Given the description of an element on the screen output the (x, y) to click on. 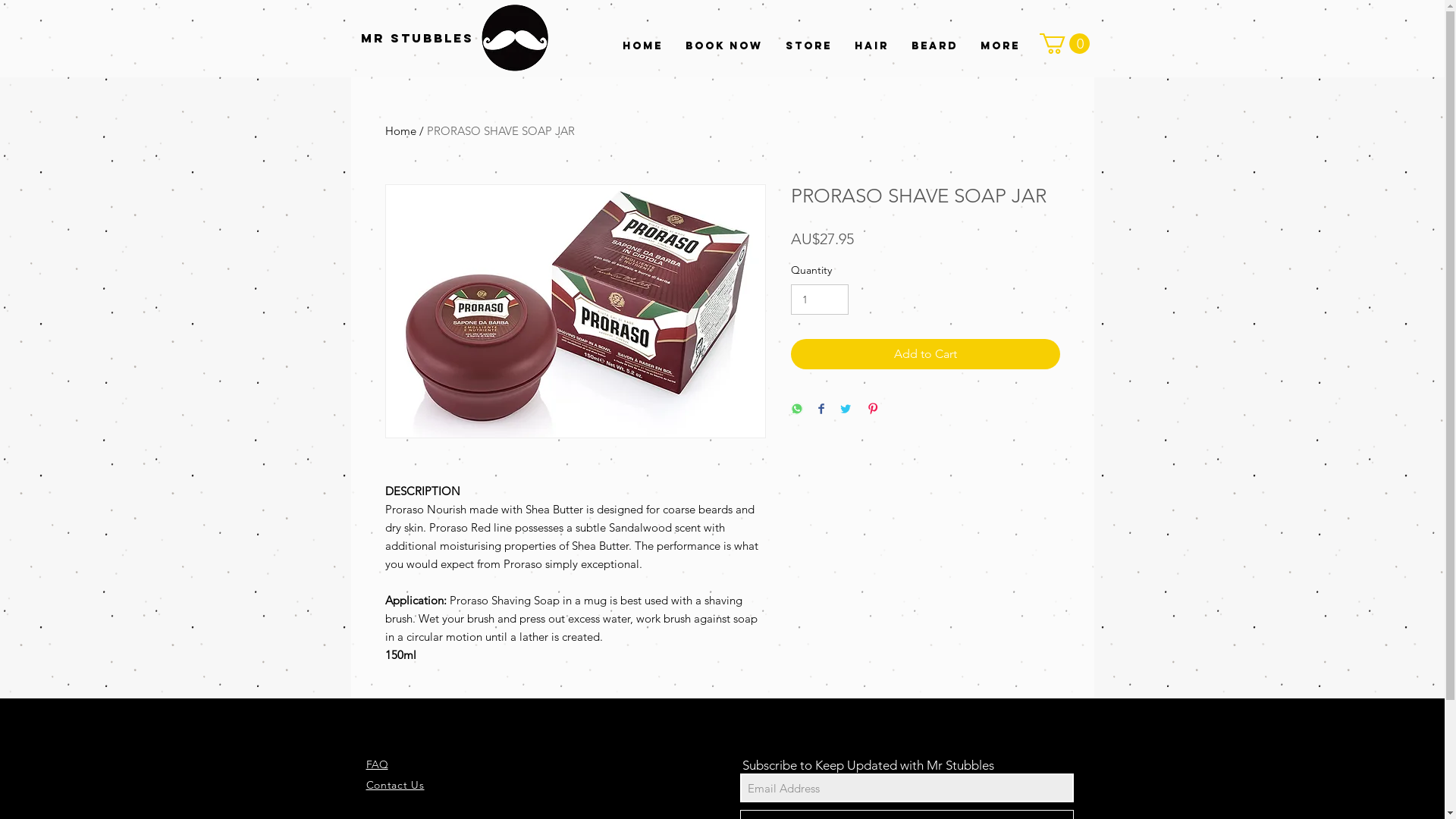
Home Element type: text (642, 45)
FAQ Element type: text (376, 764)
Contact Us Element type: text (394, 784)
Add to Cart Element type: text (924, 353)
BEARD Element type: text (933, 45)
Home Element type: text (400, 130)
PRORASO SHAVE SOAP JAR Element type: text (500, 130)
MR STUBBLES Element type: text (416, 37)
0 Element type: text (1063, 43)
BOOK NOW Element type: text (723, 45)
Store Element type: text (807, 45)
HAIR Element type: text (871, 45)
